Given the description of an element on the screen output the (x, y) to click on. 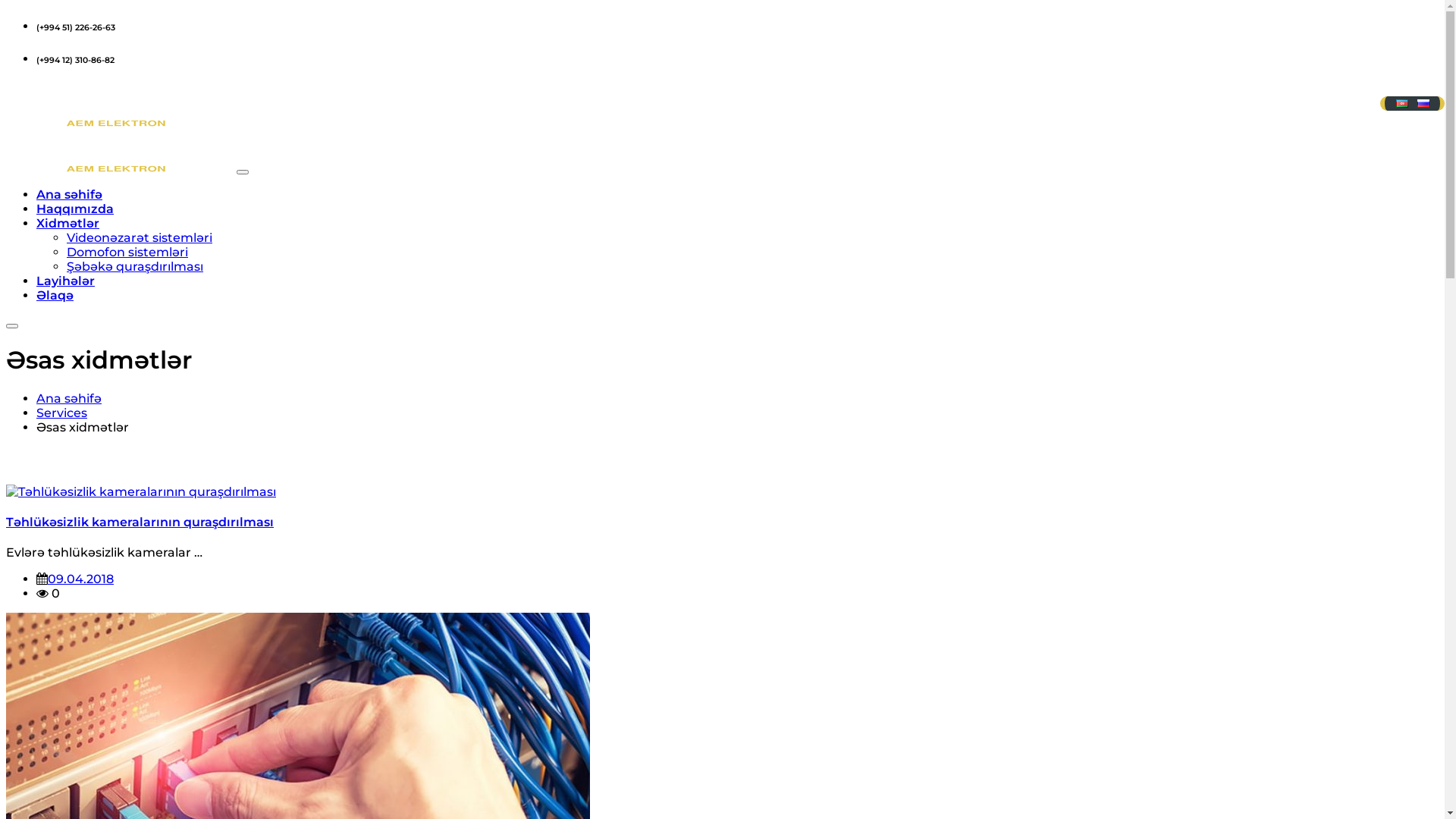
Services Element type: text (61, 412)
09.04.2018 Element type: text (80, 578)
